Given the description of an element on the screen output the (x, y) to click on. 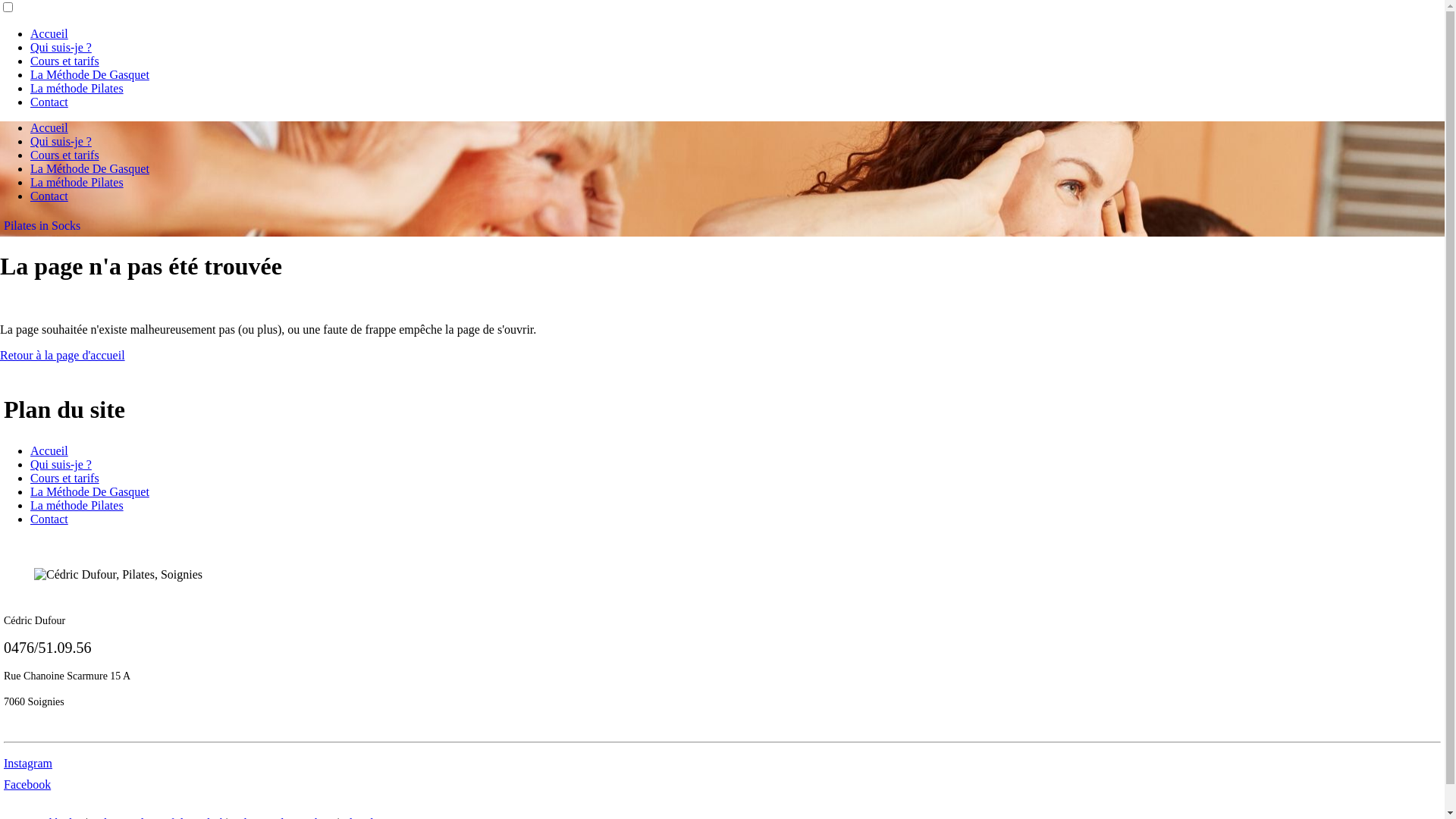
Accueil Element type: text (49, 127)
Facebook Element type: text (26, 784)
Contact Element type: text (49, 195)
Cours et tarifs Element type: text (64, 154)
Qui suis-je ? Element type: text (60, 46)
Qui suis-je ? Element type: text (60, 140)
Accueil Element type: text (49, 450)
Instagram Element type: text (27, 762)
Cours et tarifs Element type: text (64, 60)
Contact Element type: text (49, 518)
Contact Element type: text (49, 101)
Qui suis-je ? Element type: text (60, 464)
Accueil Element type: text (49, 33)
Cours et tarifs Element type: text (64, 477)
Pilates in Socks Element type: text (41, 225)
